Given the description of an element on the screen output the (x, y) to click on. 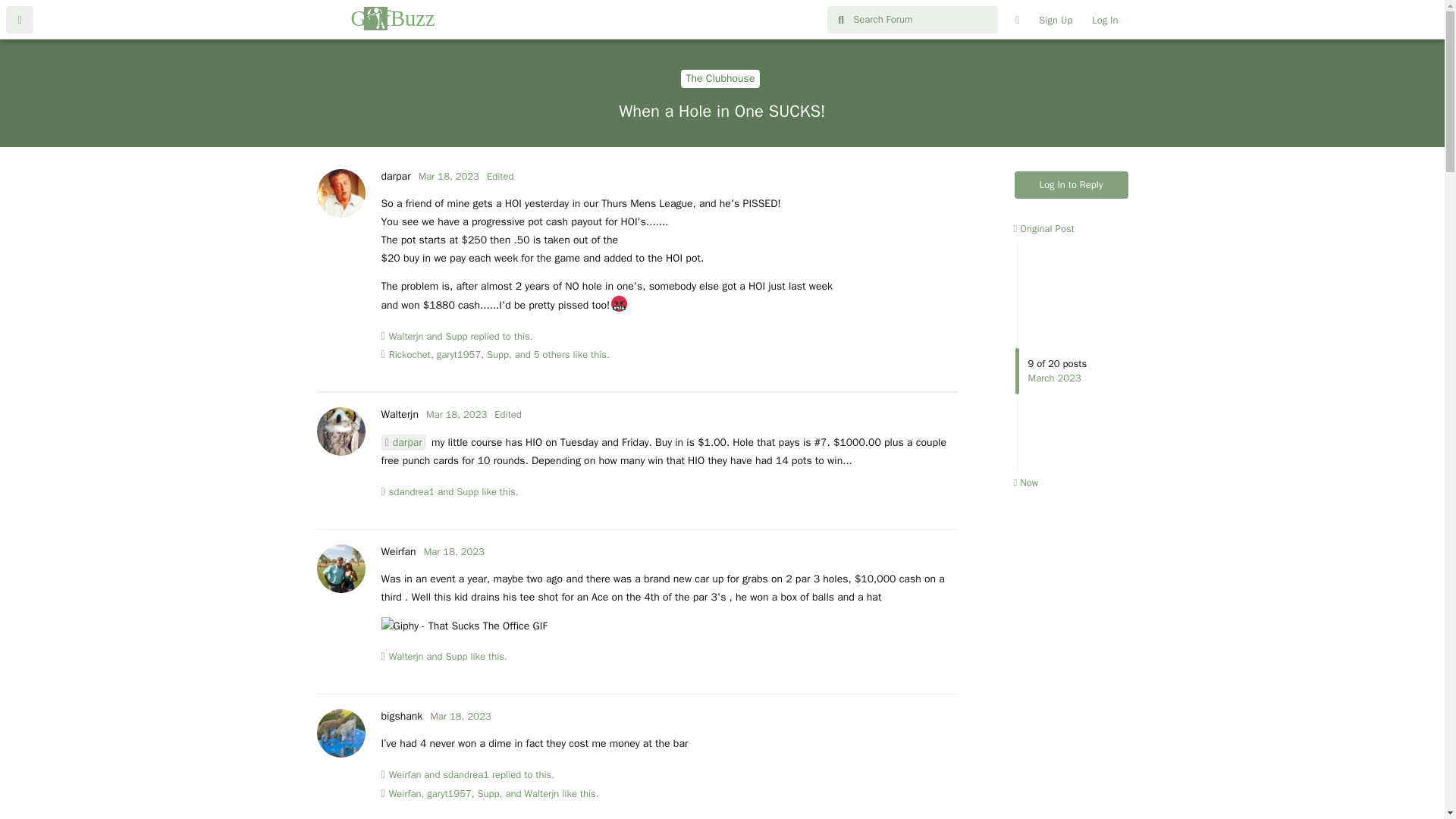
Log In (1103, 19)
Walterjn (398, 413)
garyt1957 (458, 354)
Original Post (1043, 228)
darpar (395, 175)
sdandrea1 (465, 774)
Walterjn (405, 336)
Sign Up (1055, 19)
Log In to Reply (1071, 185)
Mar 18, 2023 (456, 413)
